Given the description of an element on the screen output the (x, y) to click on. 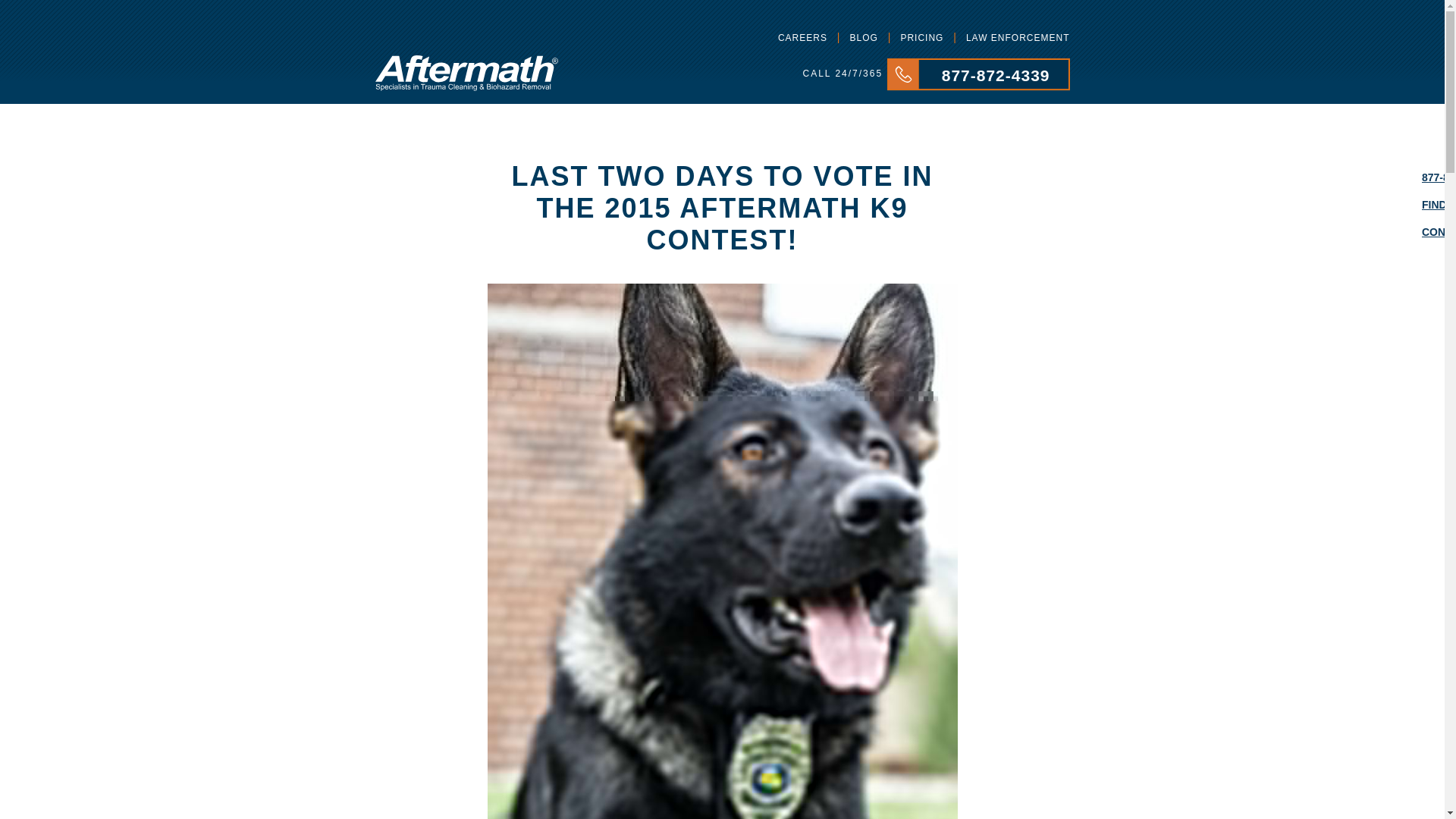
CAREERS (801, 37)
CLEANUP SERVICES (424, 102)
877-872-4339 (978, 86)
BLOG (862, 37)
WHY AFTERMATH (732, 102)
WHO WE SERVE (582, 102)
PRICING (919, 37)
LAW ENFORCEMENT (1013, 37)
RESOURCES (874, 102)
